Given the description of an element on the screen output the (x, y) to click on. 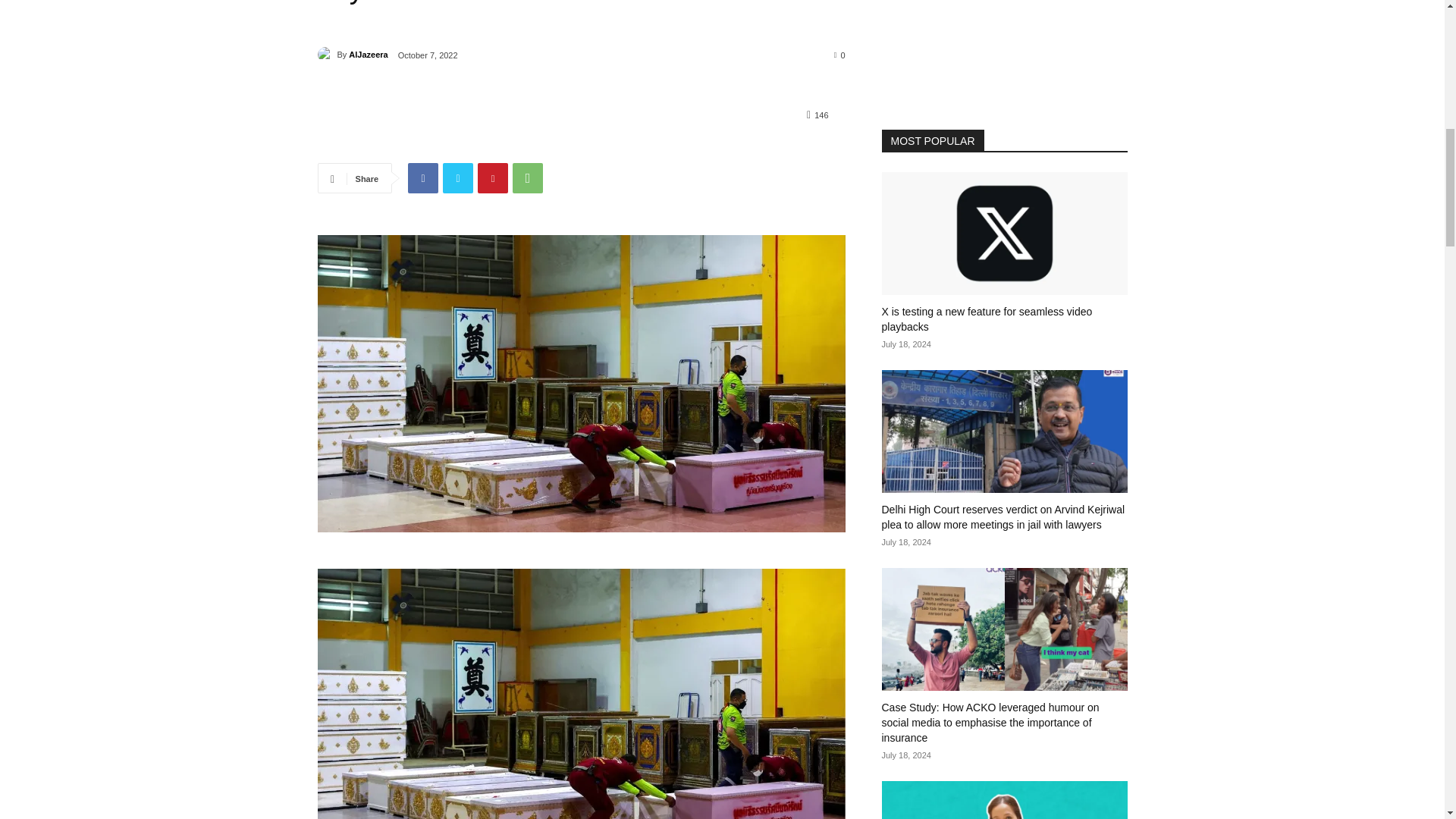
Twitter (457, 177)
AlJazeera (326, 54)
AlJazeera (368, 54)
Pinterest (492, 177)
0 (839, 53)
Facebook (422, 177)
